Given the description of an element on the screen output the (x, y) to click on. 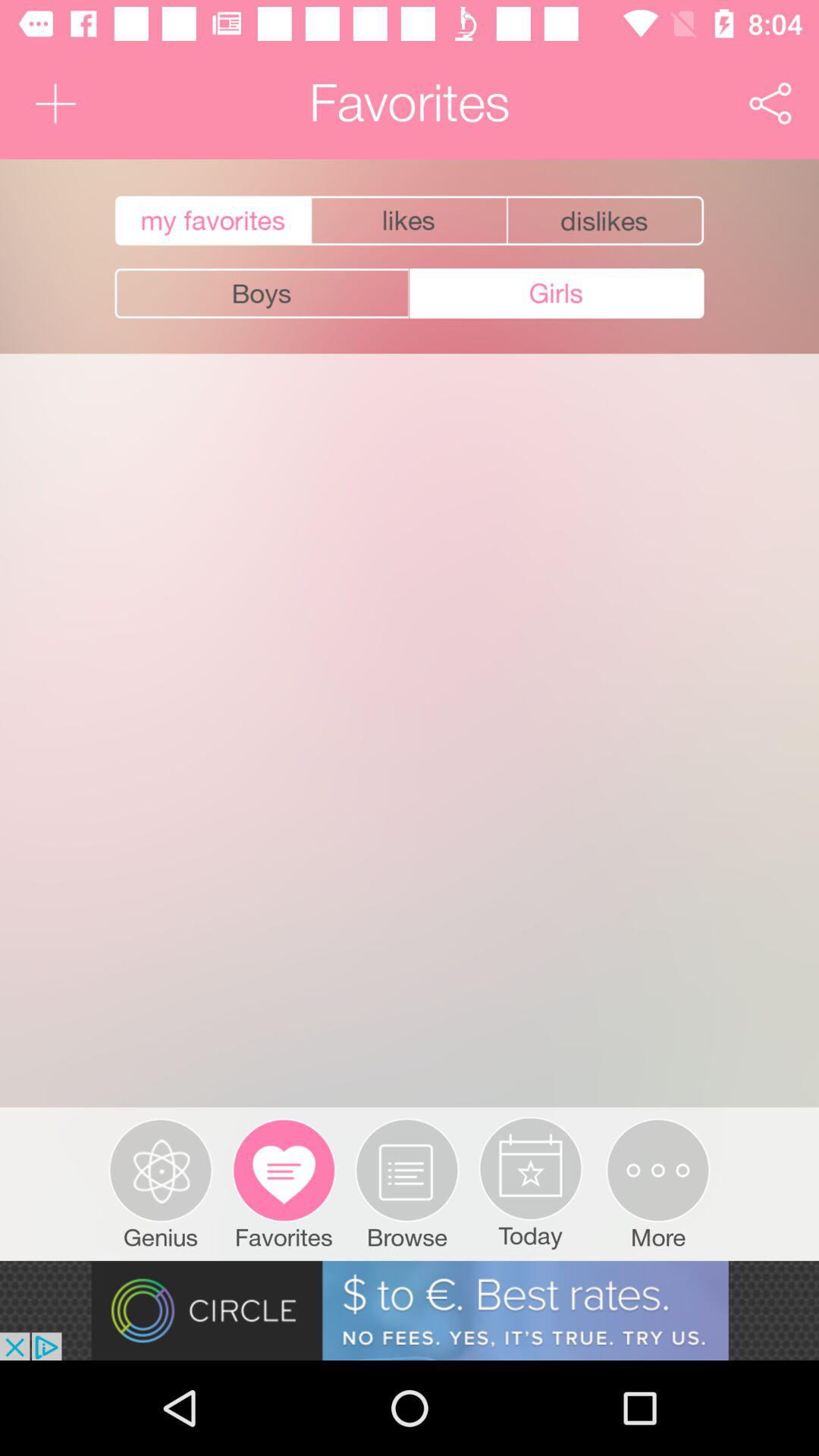
select my favorites (211, 220)
